Given the description of an element on the screen output the (x, y) to click on. 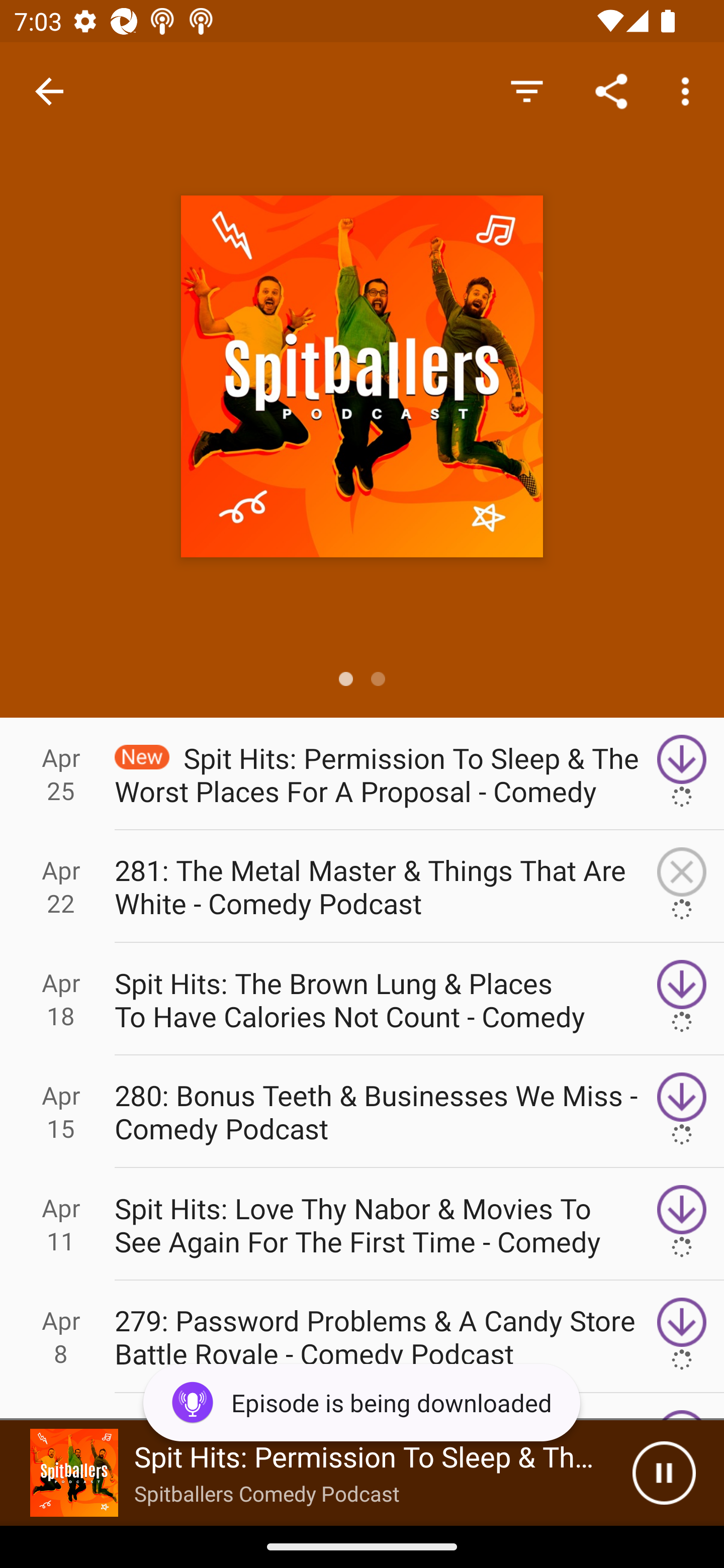
Navigate up (49, 91)
Hide Episodes (526, 90)
Share Link (611, 90)
More options (688, 90)
Download  (681, 773)
Cancel
Download  (681, 885)
Download  (681, 998)
Download  (681, 1111)
Download  (681, 1224)
Download  (681, 1336)
Pause (663, 1472)
